Given the description of an element on the screen output the (x, y) to click on. 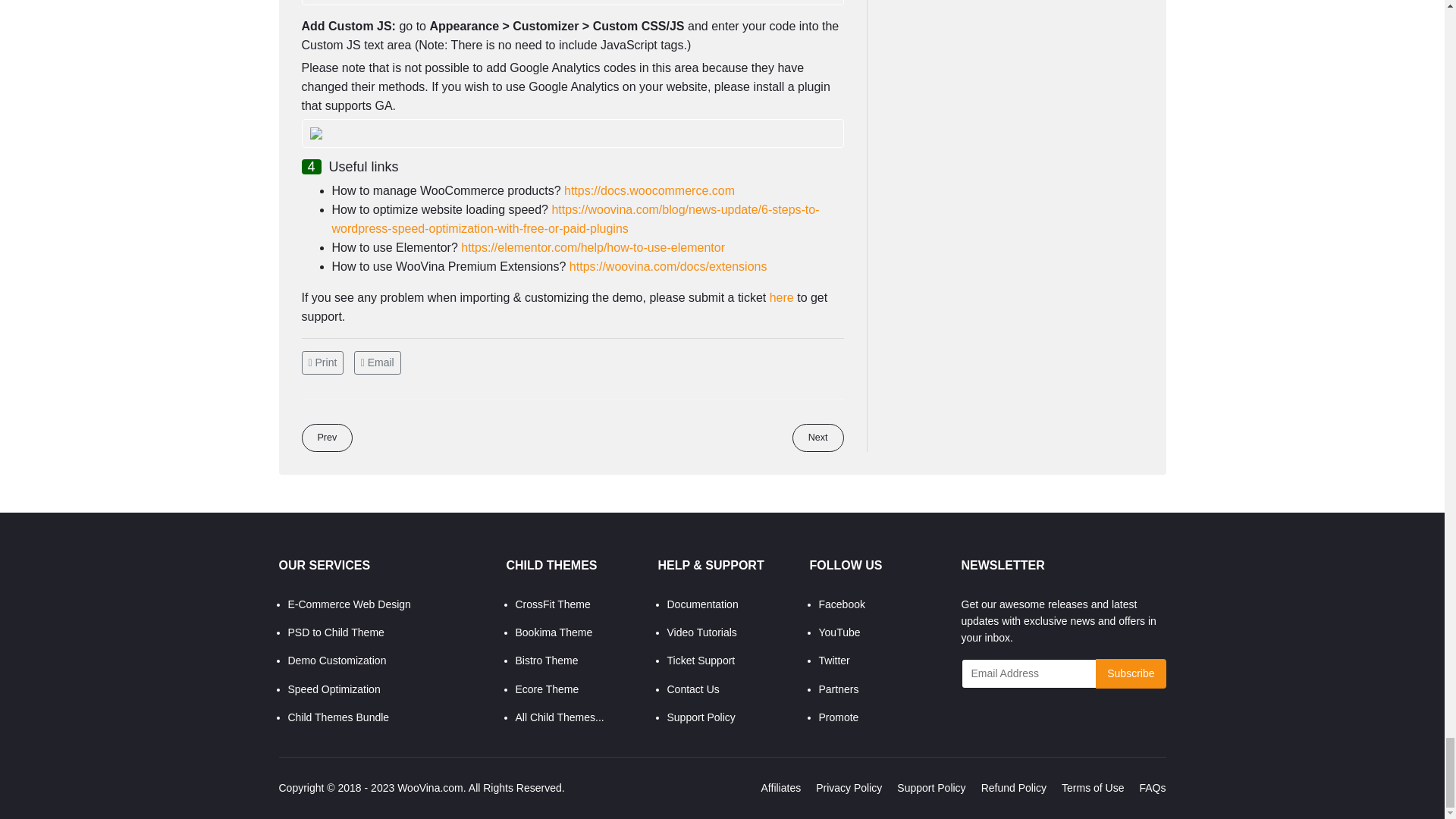
Subscribe (1131, 673)
Email this link to a friend (377, 361)
